Given the description of an element on the screen output the (x, y) to click on. 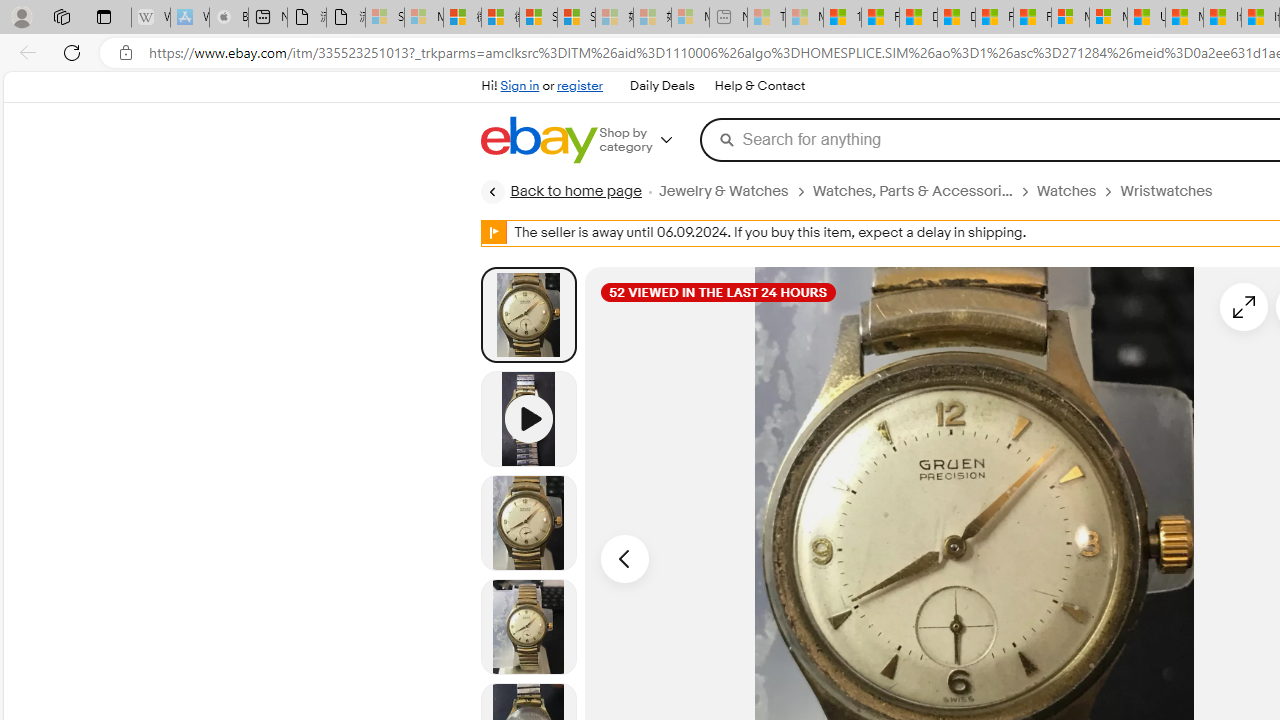
Picture 1 of 13 (528, 314)
register (579, 85)
Watches (1078, 191)
eBay Home (538, 139)
Wristwatches (1166, 191)
Picture 2 of 13 (528, 522)
WARNING (493, 232)
Opens image gallery (1243, 306)
Jewelry & Watches (734, 191)
Picture 1 of 13 (528, 313)
Drinking tea every day is proven to delay biological aging (956, 17)
